Given the description of an element on the screen output the (x, y) to click on. 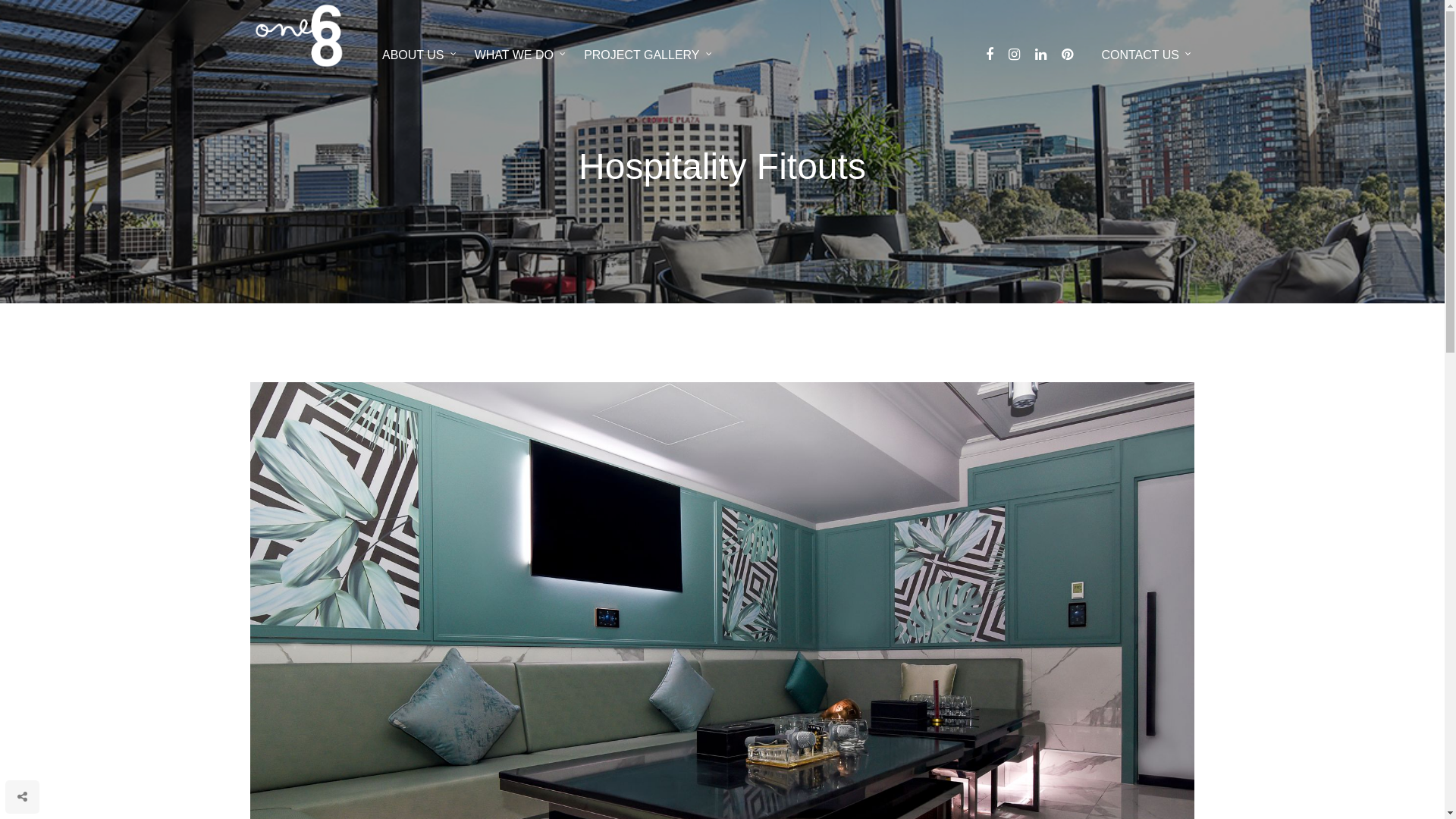
ABOUT US Element type: text (419, 53)
Linkedin Element type: hover (1044, 54)
Pinterest Element type: hover (1070, 54)
CONTACT US Element type: text (1139, 55)
Instagram Element type: hover (1017, 54)
Previous Element type: text (219, 636)
WHAT WE DO Element type: text (520, 53)
PROJECT GALLERY Element type: text (647, 53)
